Given the description of an element on the screen output the (x, y) to click on. 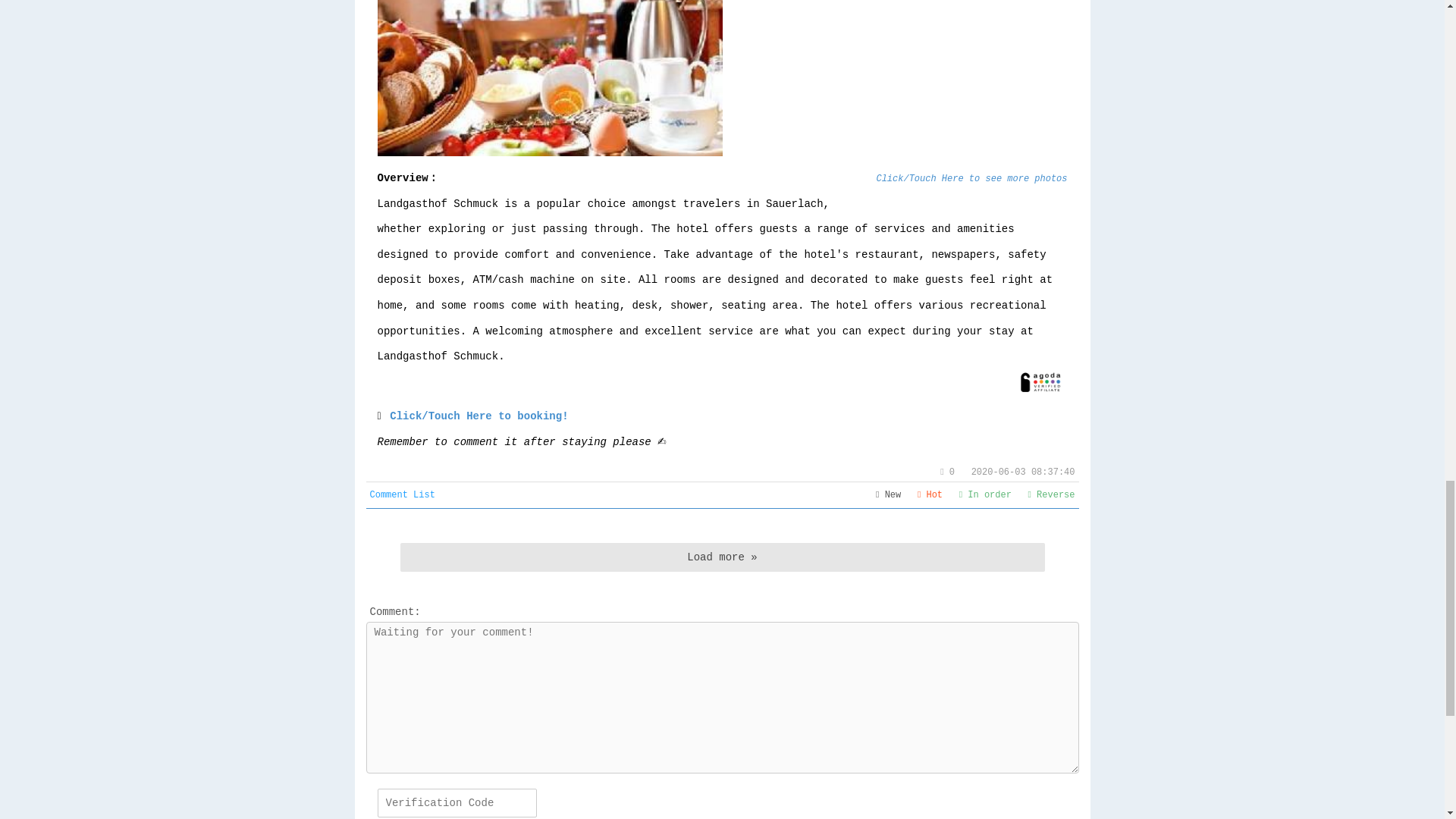
 0 (947, 471)
Hot (929, 494)
In order (985, 494)
Reverse (1051, 494)
New (888, 494)
